Given the description of an element on the screen output the (x, y) to click on. 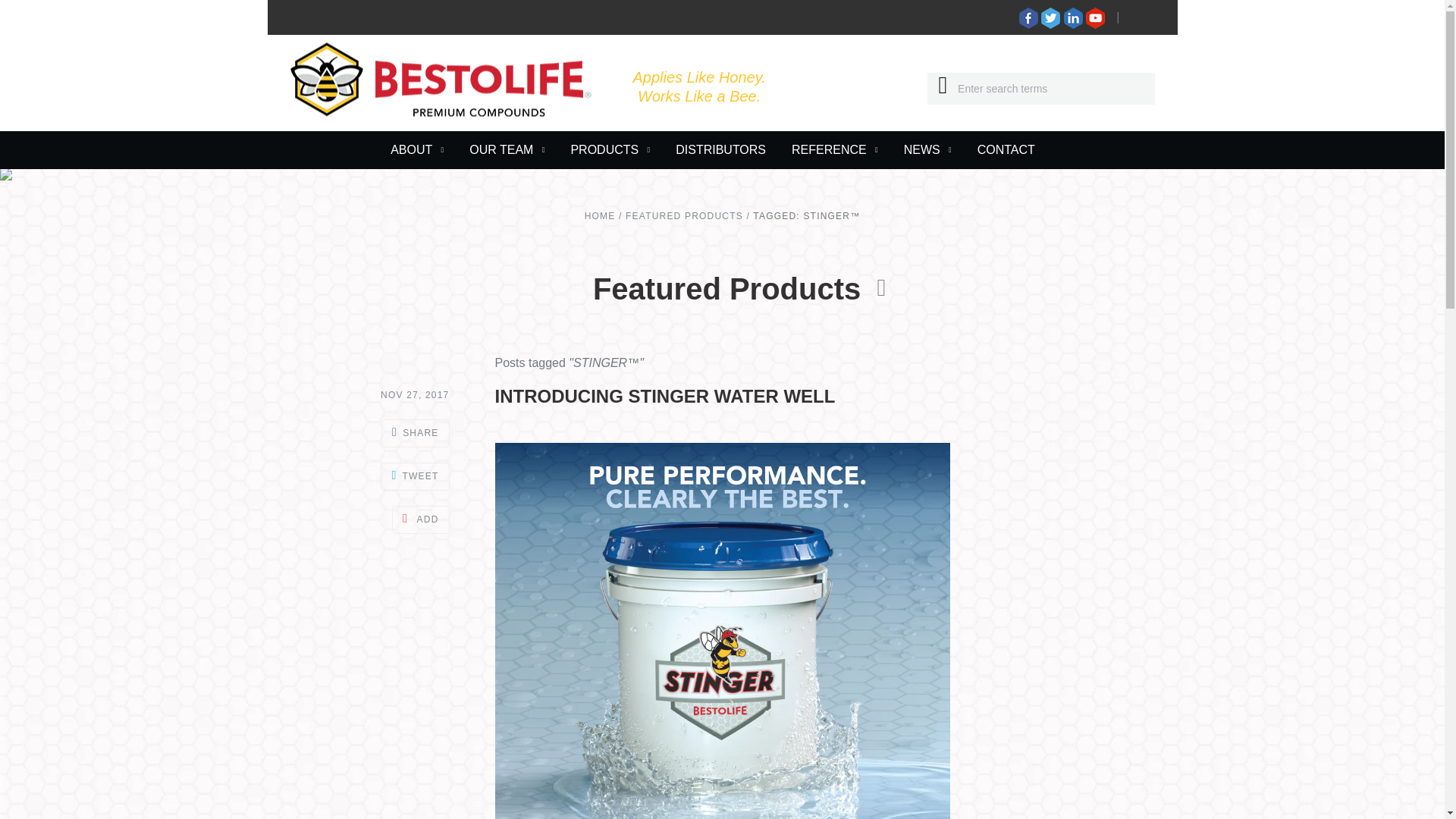
PRODUCTS (609, 149)
ABOUT (417, 149)
OUR TEAM (506, 149)
